Given the description of an element on the screen output the (x, y) to click on. 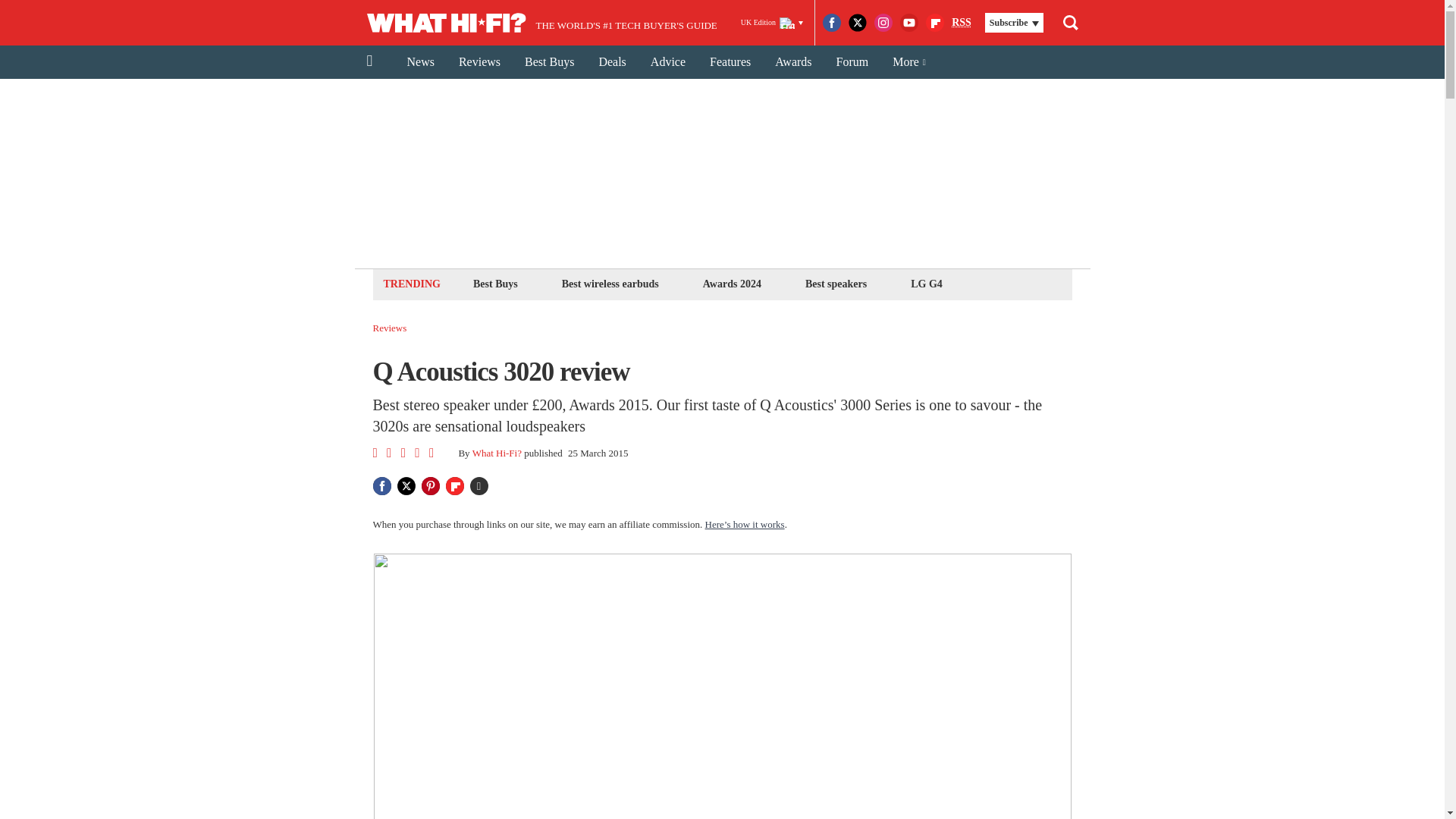
Best wireless earbuds (609, 283)
Reviews (479, 61)
Really Simple Syndication (961, 21)
Awards 2024 (732, 283)
What Hi-Fi? (496, 452)
News (419, 61)
Deals (611, 61)
UK Edition (771, 22)
Advice (668, 61)
Reviews (389, 327)
